Given the description of an element on the screen output the (x, y) to click on. 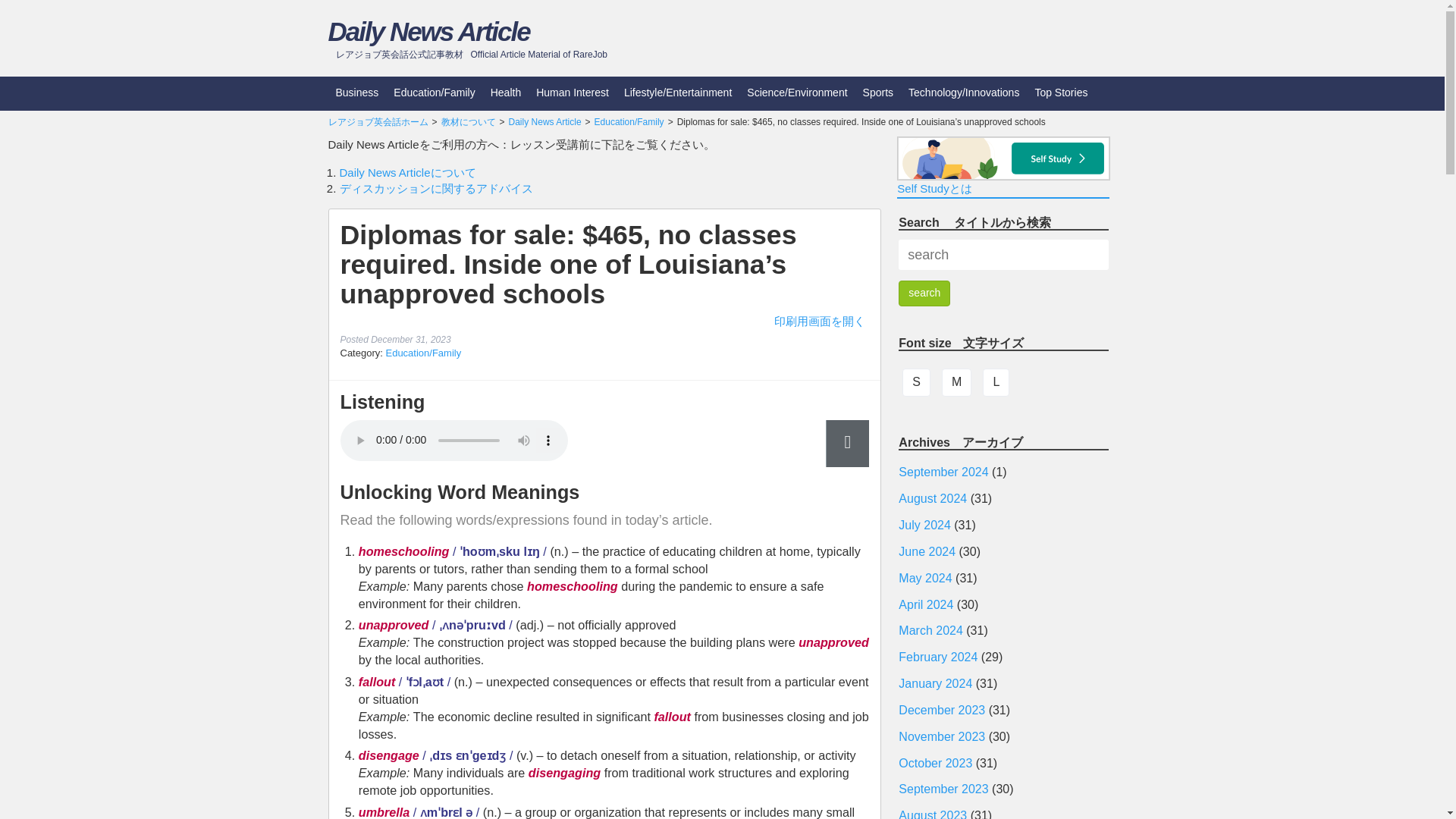
Top Stories (1060, 93)
February 2024 (937, 656)
August 2023 (932, 814)
June 2024 (926, 551)
January 2024 (935, 683)
April 2024 (925, 604)
Health (505, 93)
search (924, 293)
September 2023 (943, 788)
July 2024 (924, 524)
